Given the description of an element on the screen output the (x, y) to click on. 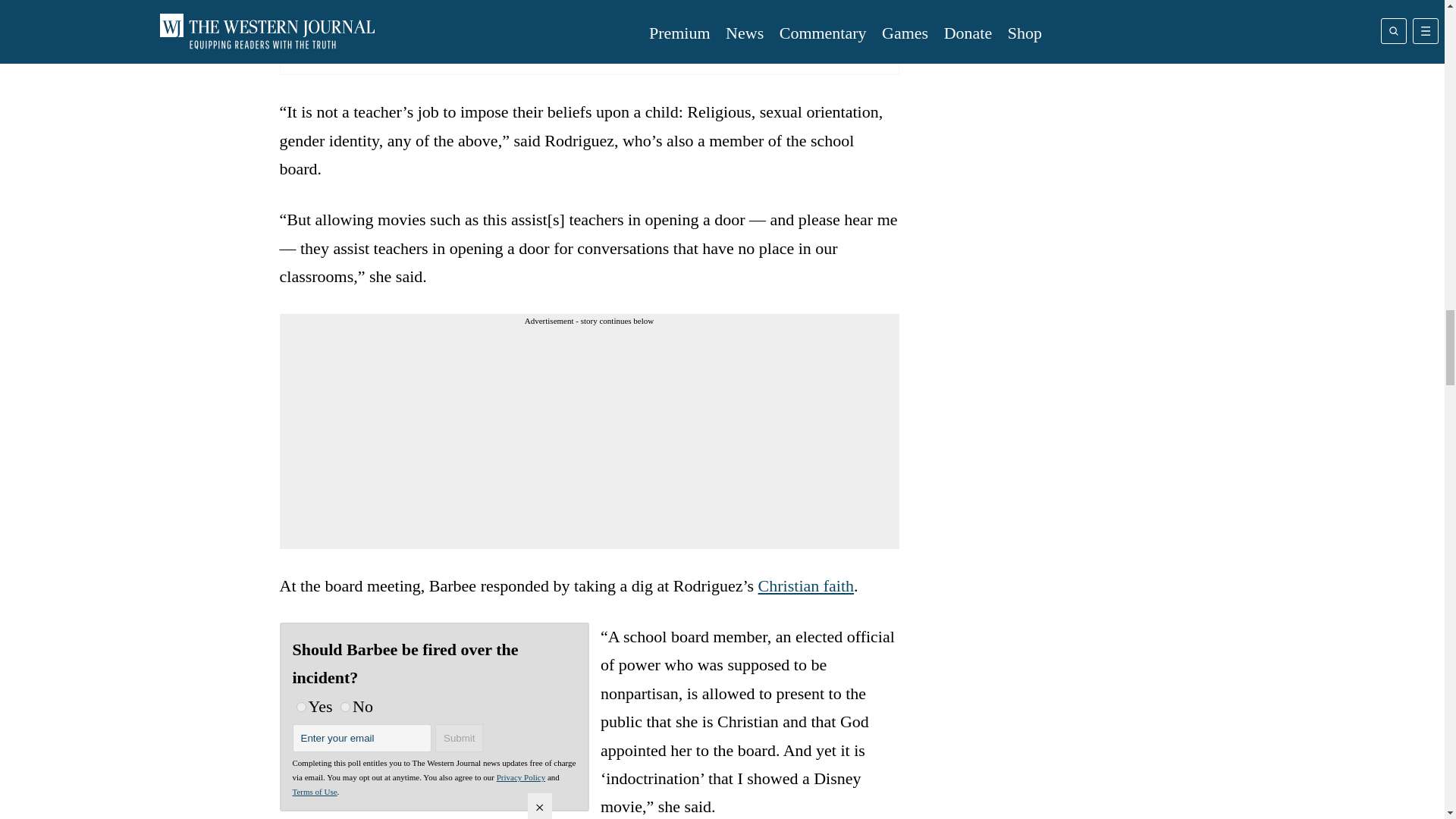
no (345, 706)
Submit (459, 737)
yes (300, 706)
